Given the description of an element on the screen output the (x, y) to click on. 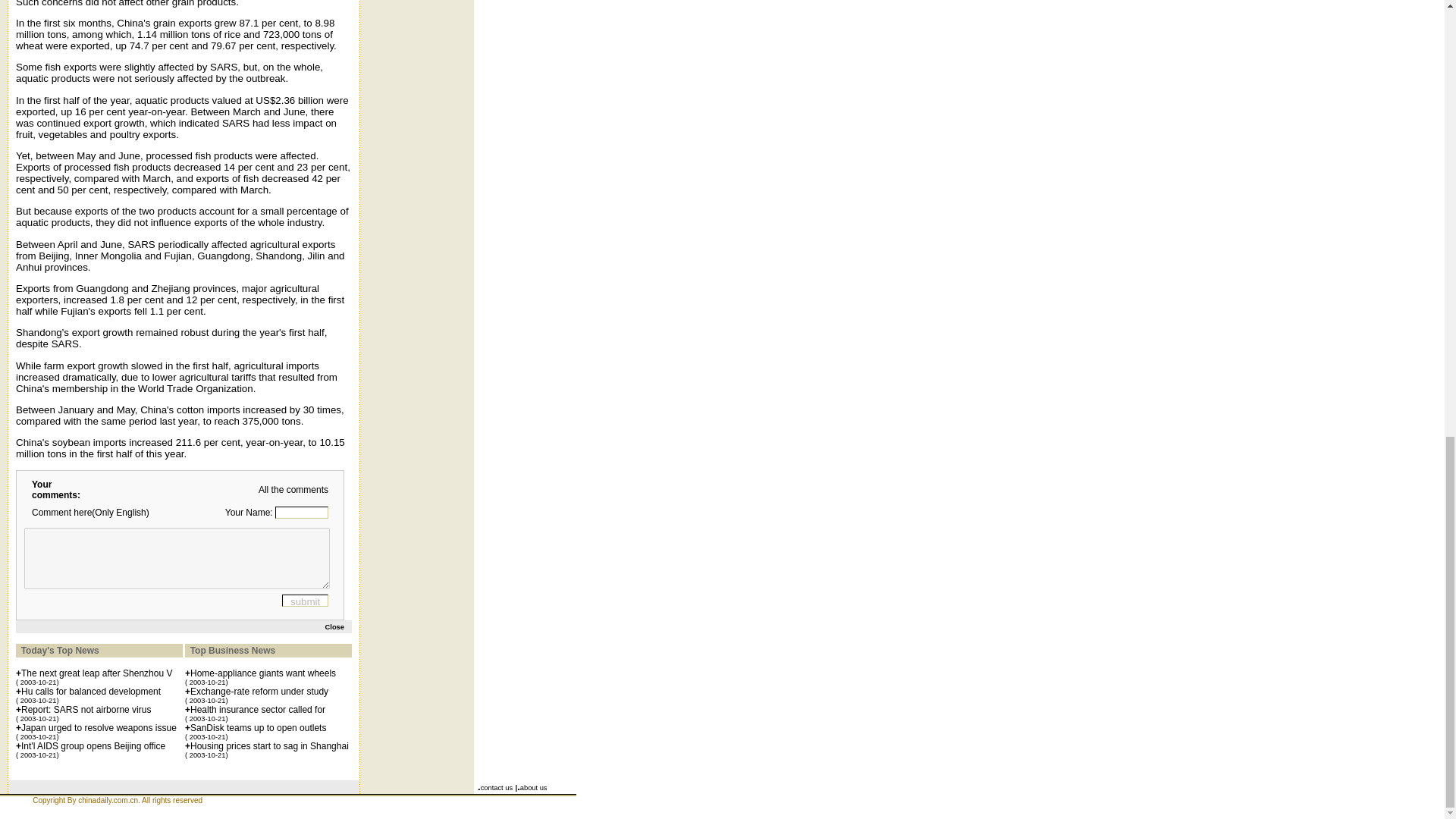
contact us (496, 787)
 submit  (305, 599)
Report: SARS not airborne virus (86, 709)
Exchange-rate reform under study (259, 691)
Close (333, 625)
Health insurance sector called for (257, 709)
SanDisk teams up to open outlets (258, 727)
Home-appliance giants want wheels (263, 673)
Housing prices start to sag in Shanghai (269, 746)
 submit  (305, 599)
